Given the description of an element on the screen output the (x, y) to click on. 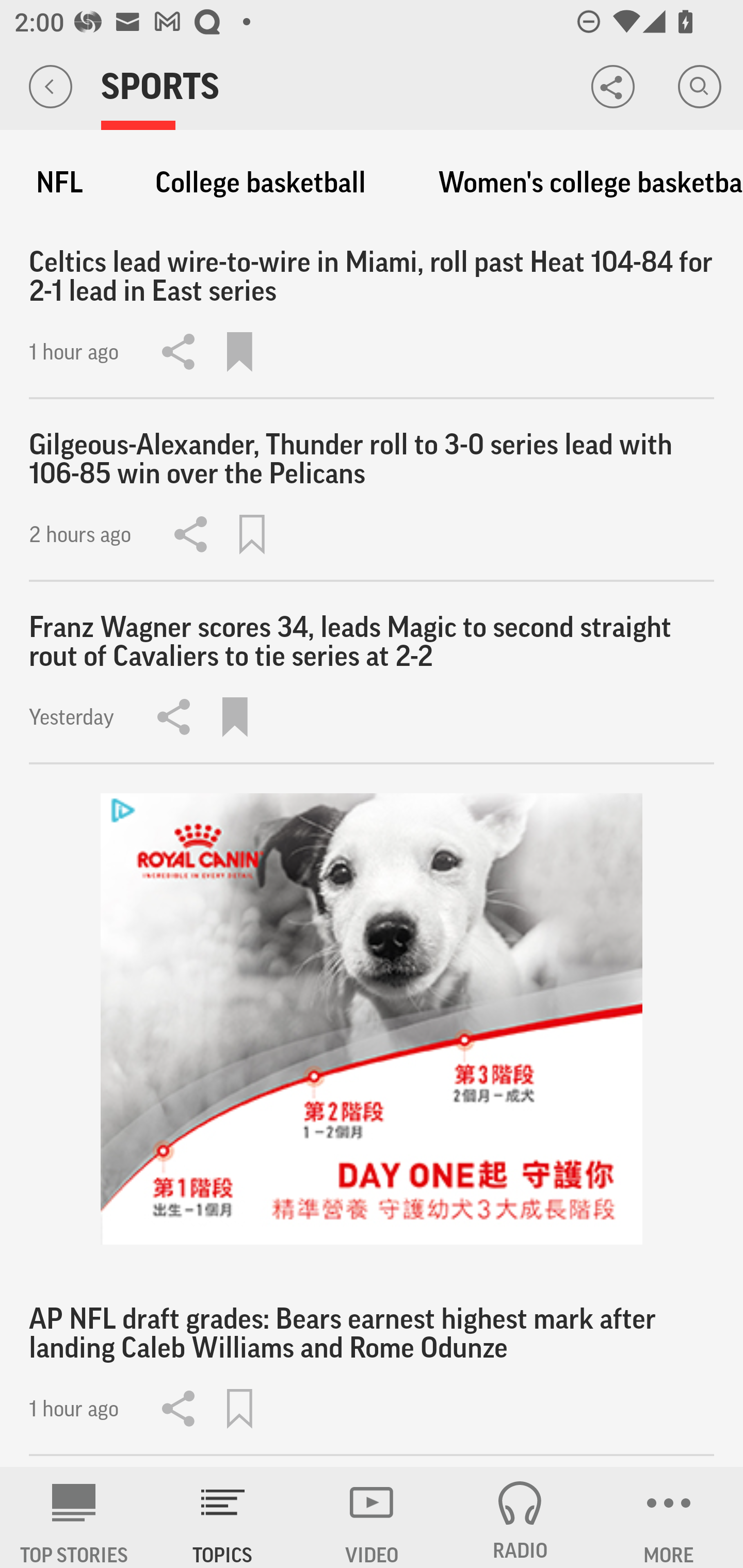
NFL (59, 182)
College basketball (260, 182)
Women's college basketball (581, 182)
2ab6p6vl_300x250 (371, 1018)
AP News TOP STORIES (74, 1517)
TOPICS (222, 1517)
VIDEO (371, 1517)
RADIO (519, 1517)
MORE (668, 1517)
